Given the description of an element on the screen output the (x, y) to click on. 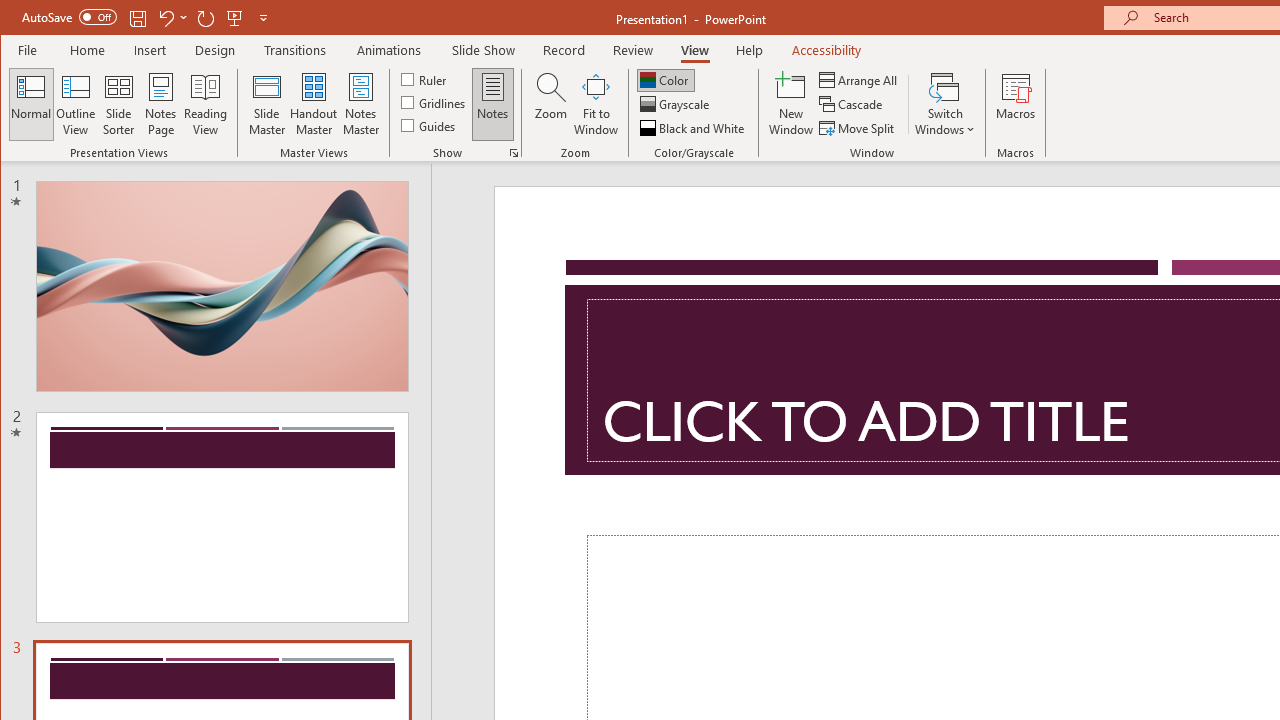
Gridlines (435, 101)
